Given the description of an element on the screen output the (x, y) to click on. 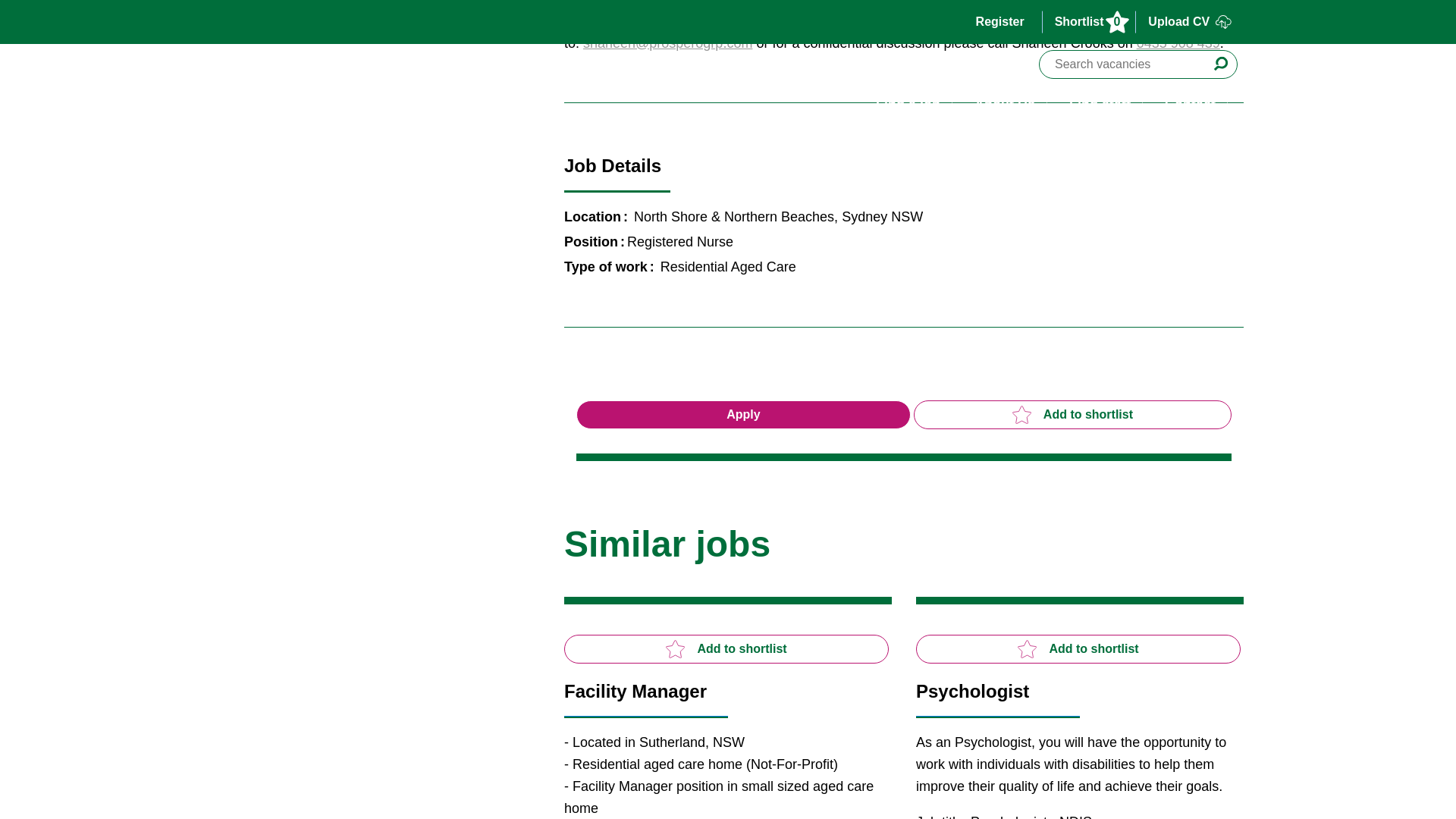
Apply (743, 414)
shortlist star (674, 648)
shortlist star (1026, 648)
0435 908 439 (1178, 43)
shortlist star (1020, 414)
